Given the description of an element on the screen output the (x, y) to click on. 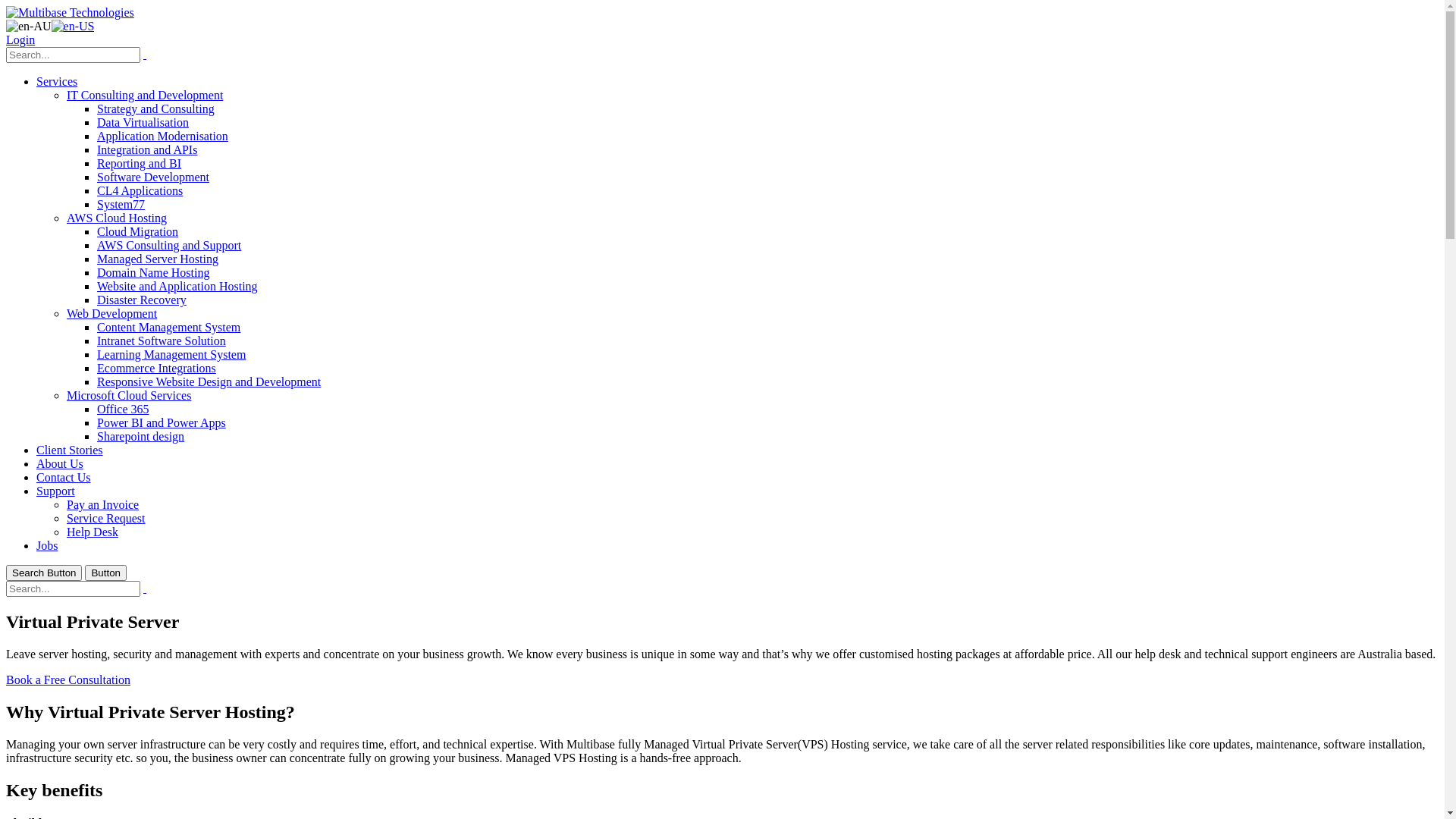
AWS Cloud Hosting Element type: text (116, 217)
Application Modernisation Element type: text (162, 135)
English (United States) Element type: hover (72, 25)
AWS Consulting and Support Element type: text (169, 244)
Office 365 Element type: text (123, 408)
Services Element type: text (56, 81)
Microsoft Cloud Services Element type: text (128, 395)
Search Button Element type: text (43, 572)
Strategy and Consulting Element type: text (155, 108)
  Element type: text (144, 587)
Reporting and BI Element type: text (139, 162)
English (Australia) Element type: hover (28, 25)
Support Element type: text (55, 490)
System77 Element type: text (120, 203)
Multibase Technologies Element type: hover (70, 12)
Responsive Website Design and Development Element type: text (208, 381)
About Us Element type: text (59, 463)
Service Request Element type: text (105, 517)
Login Element type: text (20, 39)
Book a Free Consultation Element type: text (68, 679)
Intranet Software Solution Element type: text (161, 340)
Help Desk Element type: text (92, 531)
Sharepoint design Element type: text (140, 435)
Contact Us Element type: text (63, 476)
CL4 Applications Element type: text (139, 190)
Content Management System Element type: text (168, 326)
Client Stories Element type: text (69, 449)
  Element type: text (144, 53)
Integration and APIs Element type: text (147, 149)
Cloud Migration Element type: text (137, 231)
Software Development Element type: text (153, 176)
Website and Application Hosting Element type: text (177, 285)
Data Virtualisation Element type: text (142, 122)
Web Development Element type: text (111, 313)
Power BI and Power Apps Element type: text (161, 422)
Jobs Element type: text (46, 545)
Disaster Recovery Element type: text (141, 299)
Managed Server Hosting Element type: text (157, 258)
IT Consulting and Development Element type: text (144, 94)
Pay an Invoice Element type: text (102, 504)
Domain Name Hosting Element type: text (153, 272)
Button Element type: text (105, 572)
Learning Management System Element type: text (171, 354)
Ecommerce Integrations Element type: text (156, 367)
